Given the description of an element on the screen output the (x, y) to click on. 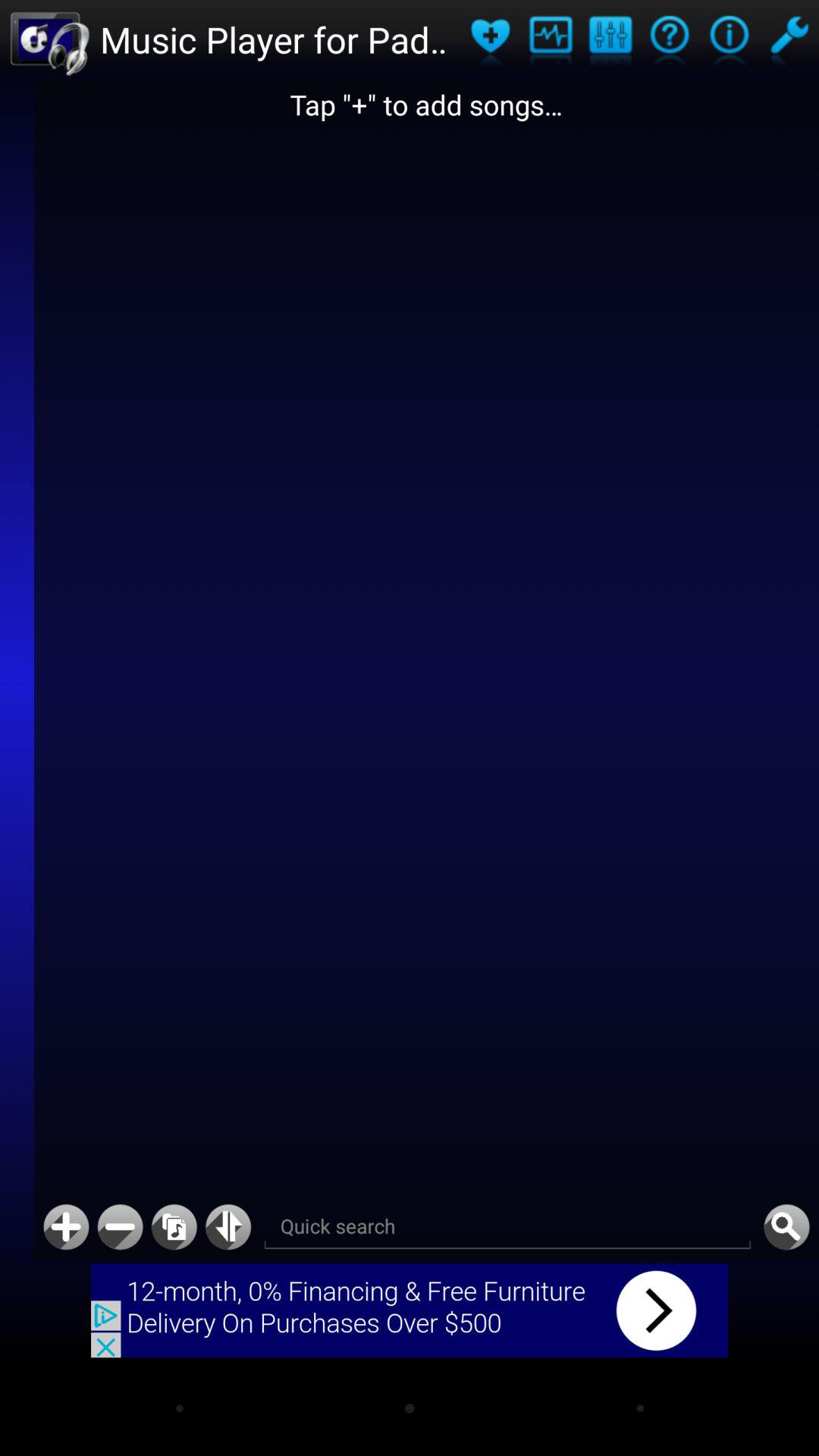
open songlist (174, 1226)
